Given the description of an element on the screen output the (x, y) to click on. 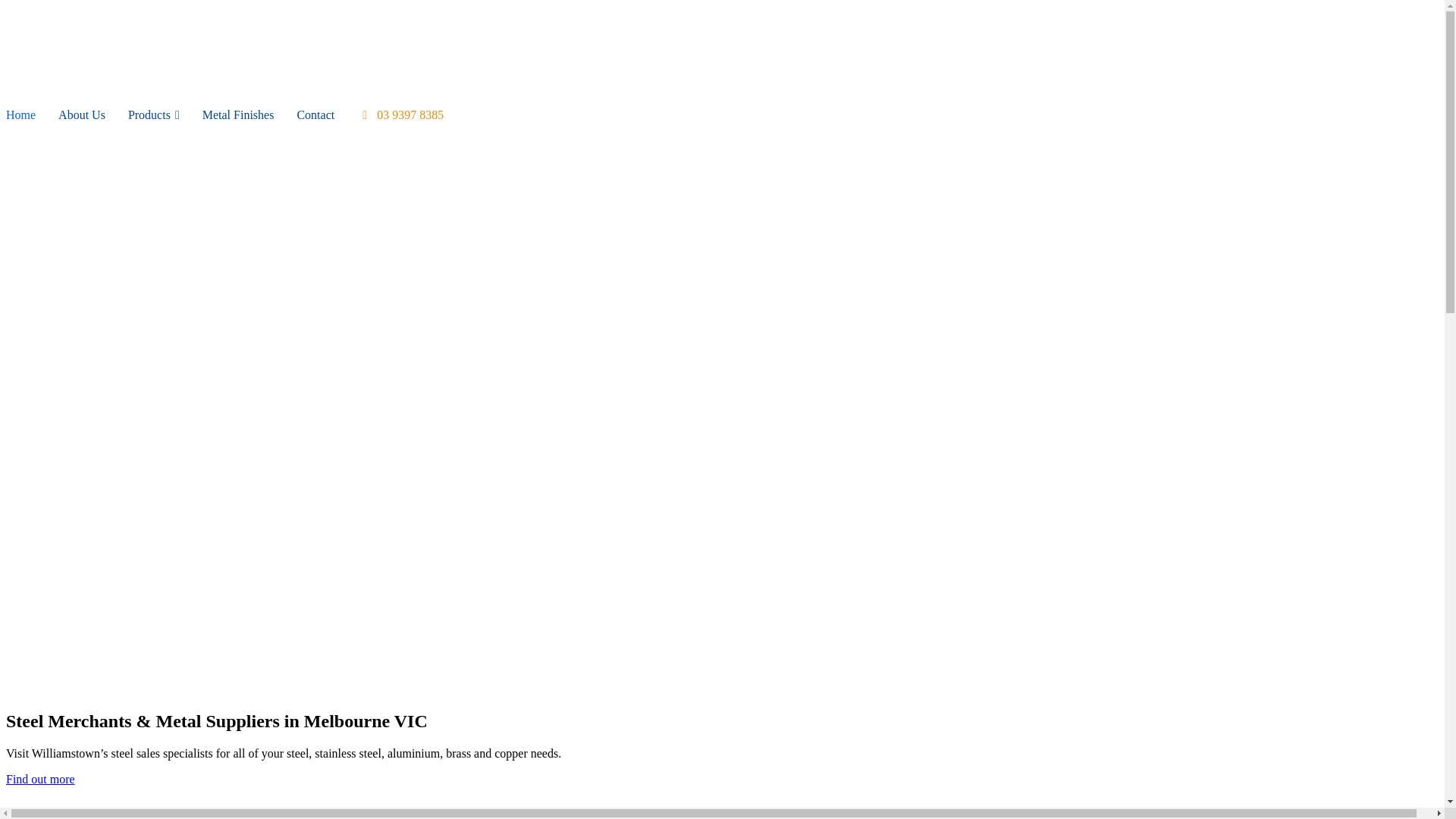
Products Element type: text (153, 114)
Contact Element type: text (315, 114)
Skip to content Element type: text (5, 5)
03 9397 8385 Element type: text (400, 114)
About Us Element type: text (81, 114)
Metal Finishes Element type: text (238, 114)
Find out more Element type: text (40, 778)
Home Element type: text (20, 114)
